Given the description of an element on the screen output the (x, y) to click on. 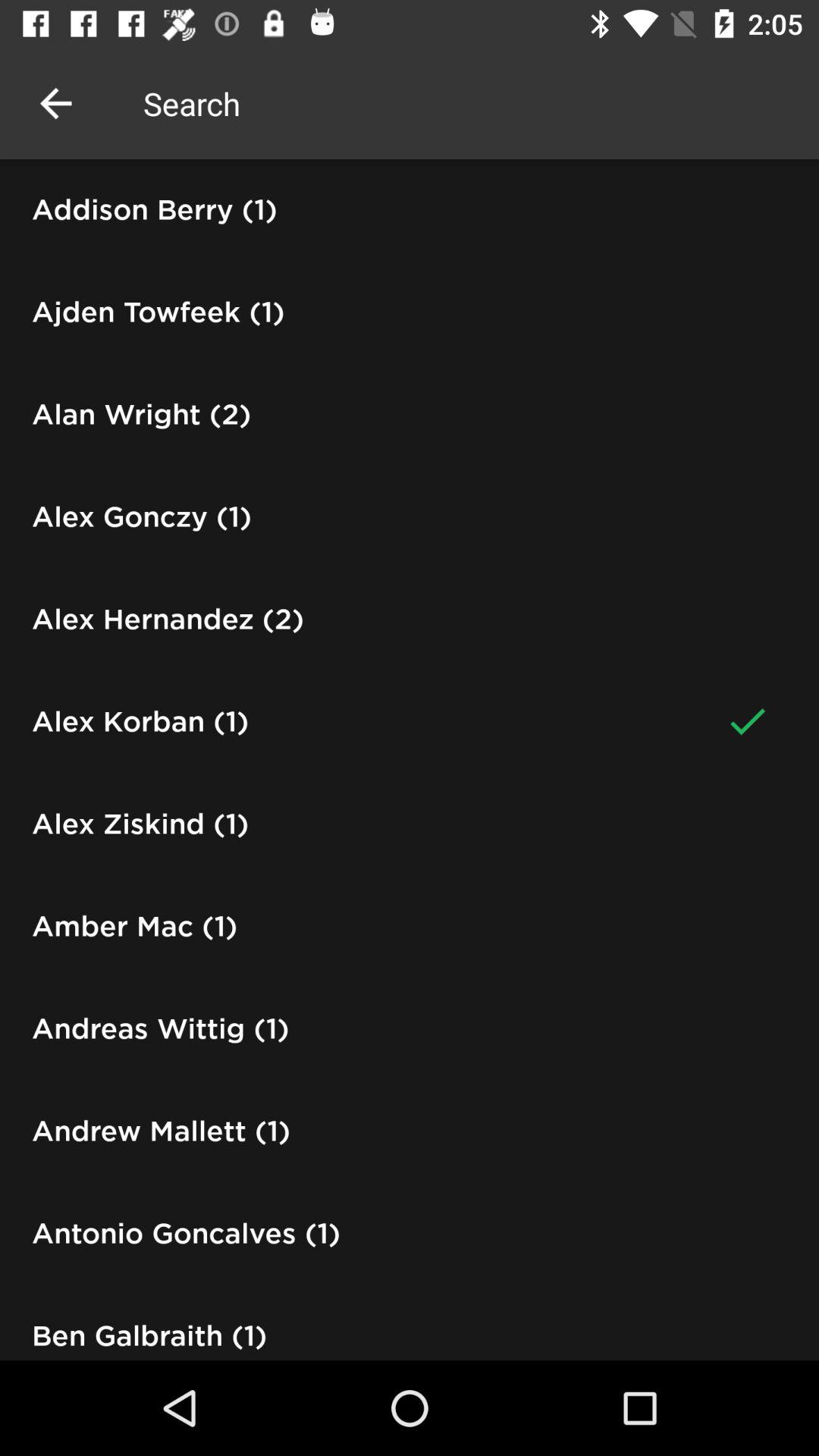
press the icon to the left of the search app (55, 103)
